Given the description of an element on the screen output the (x, y) to click on. 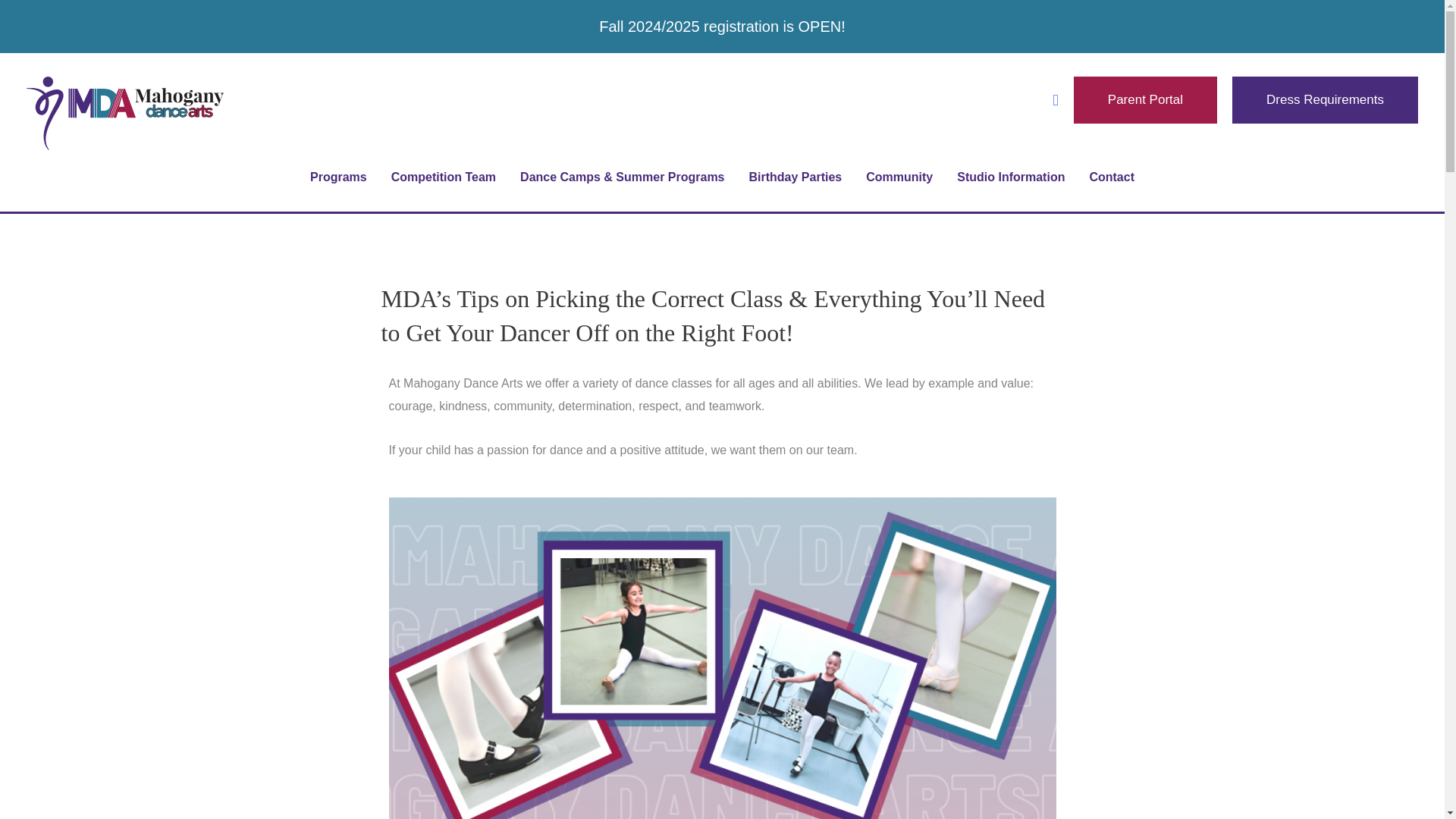
Studio Information (1010, 176)
Programs (338, 176)
Birthday Parties (795, 176)
Parent Portal (1145, 99)
Community (898, 176)
Contact (1112, 176)
Dress Requirements (1324, 99)
Competition Team (443, 176)
